Given the description of an element on the screen output the (x, y) to click on. 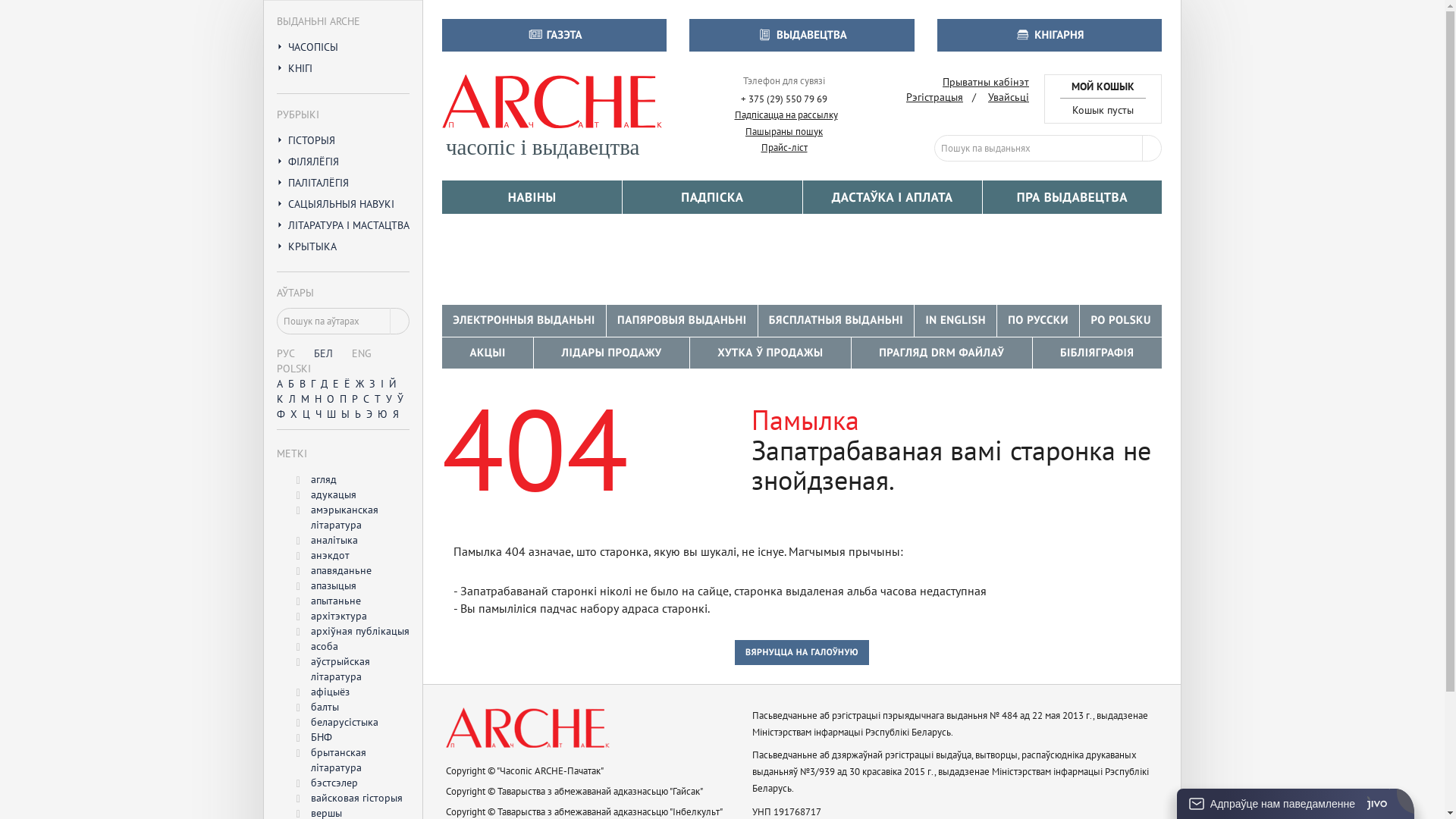
POLSKI Element type: text (293, 368)
ENG Element type: text (361, 353)
+ 375 (29) 550 79 69 Element type: text (783, 99)
PO POLSKU Element type: text (1120, 319)
IN ENGLISH Element type: text (955, 319)
